Given the description of an element on the screen output the (x, y) to click on. 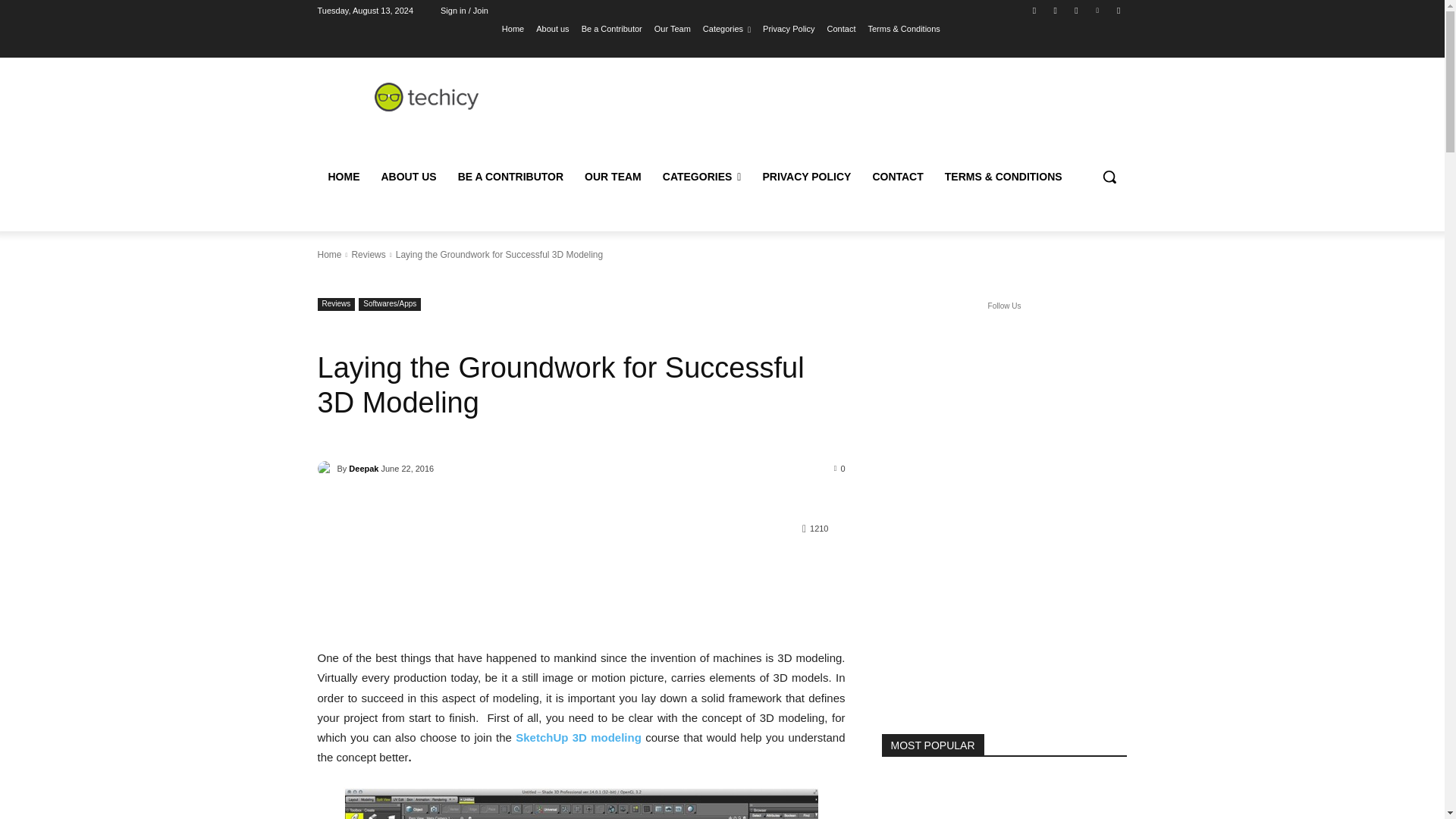
Privacy Policy (787, 28)
Categories (727, 28)
View all posts in Reviews (367, 254)
Contact (841, 28)
About us (552, 28)
Youtube (1117, 9)
Deepak (326, 468)
Instagram (1055, 9)
Twitter (1075, 9)
Be a Contributor (611, 28)
